Given the description of an element on the screen output the (x, y) to click on. 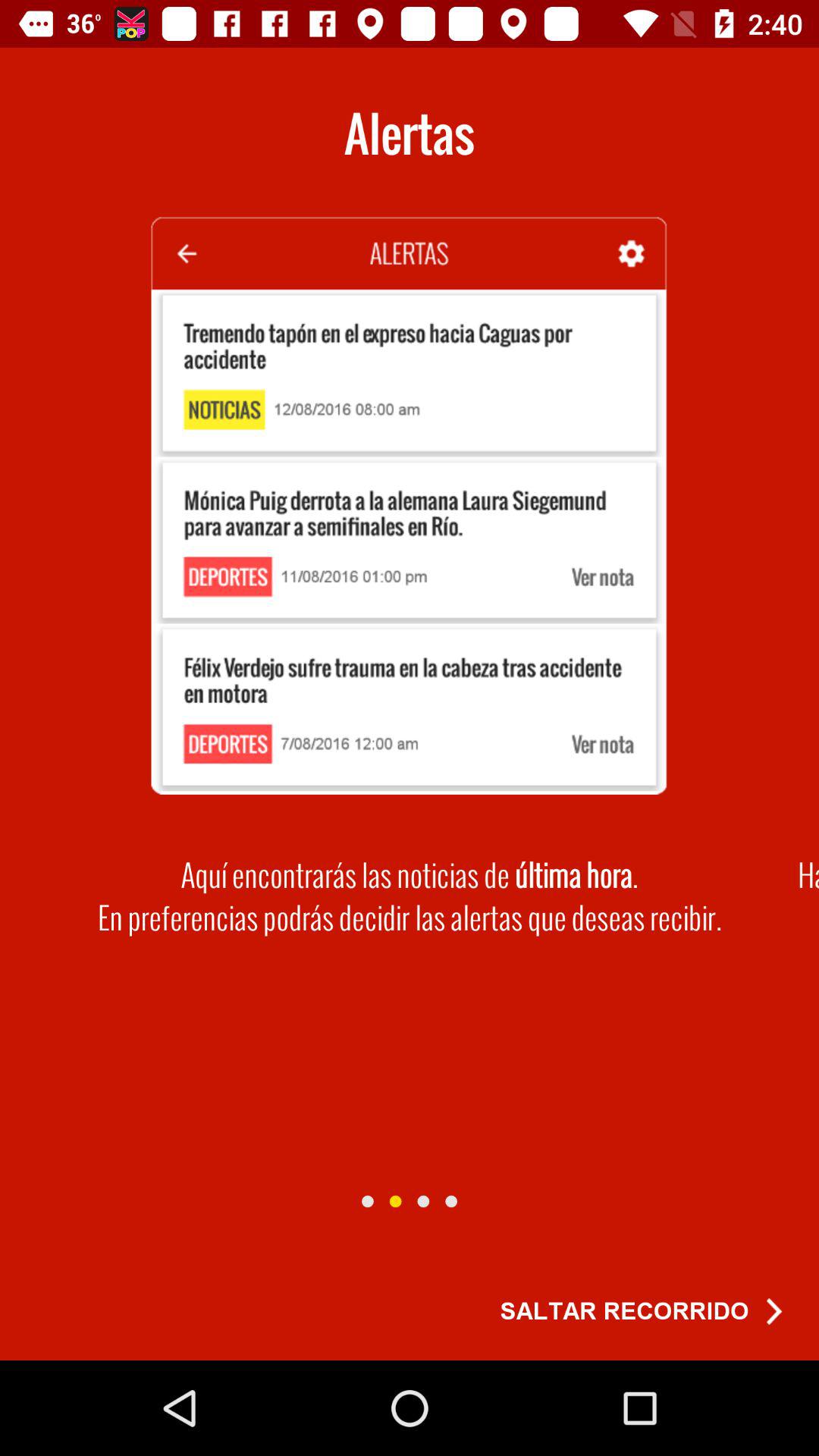
go next page (395, 1201)
